Given the description of an element on the screen output the (x, y) to click on. 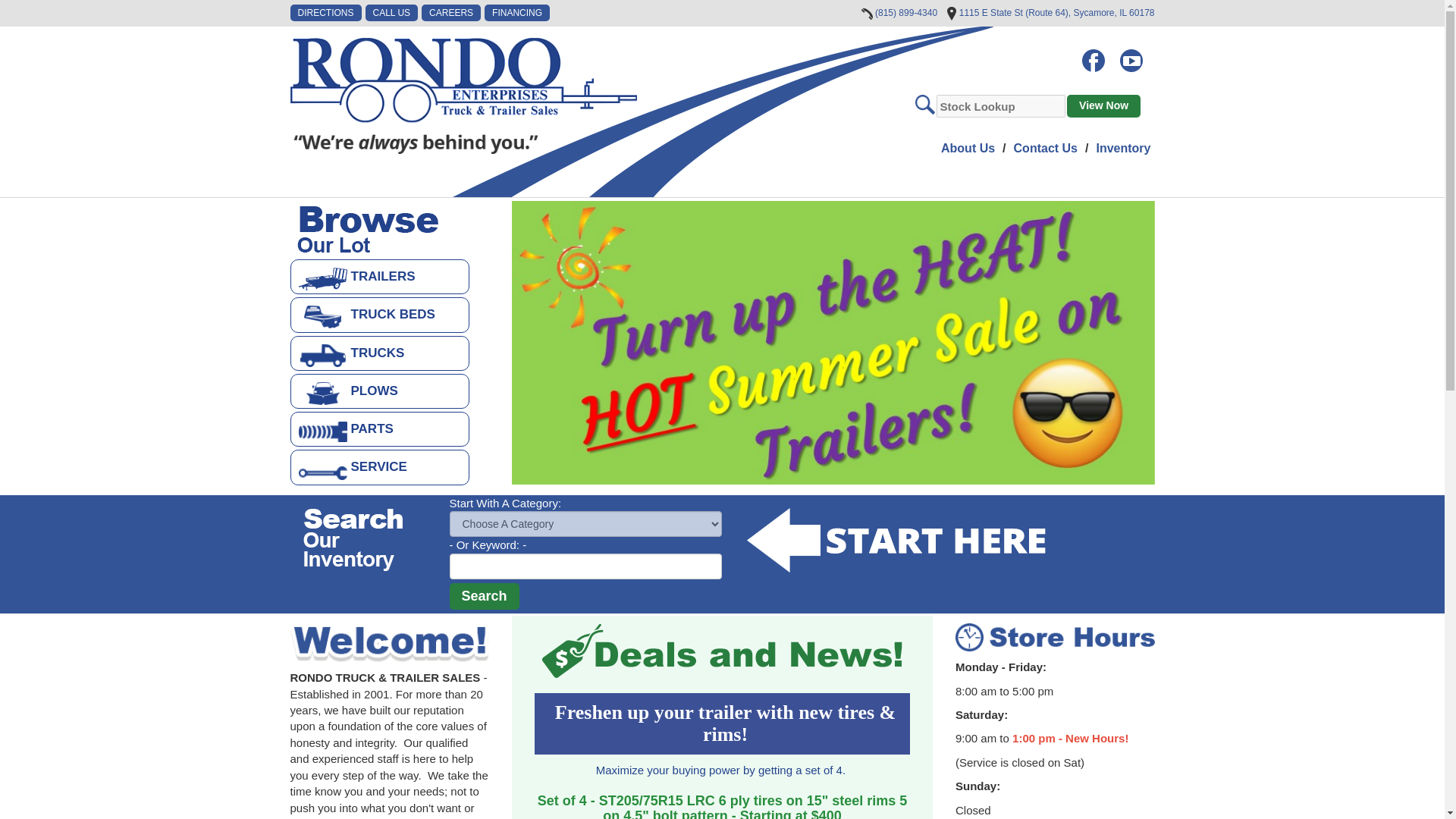
Contact Us (1045, 147)
TRAILERS (378, 276)
Rondo Truck And Trailer Sycamore, IL on Facebook (1098, 52)
View Now (1103, 106)
Welcome! (389, 642)
Parts (378, 428)
SERVICE (378, 466)
About Us (968, 147)
Rondo Truck And Trailer Illinois On Youtube (1136, 52)
PARTS (378, 428)
